Given the description of an element on the screen output the (x, y) to click on. 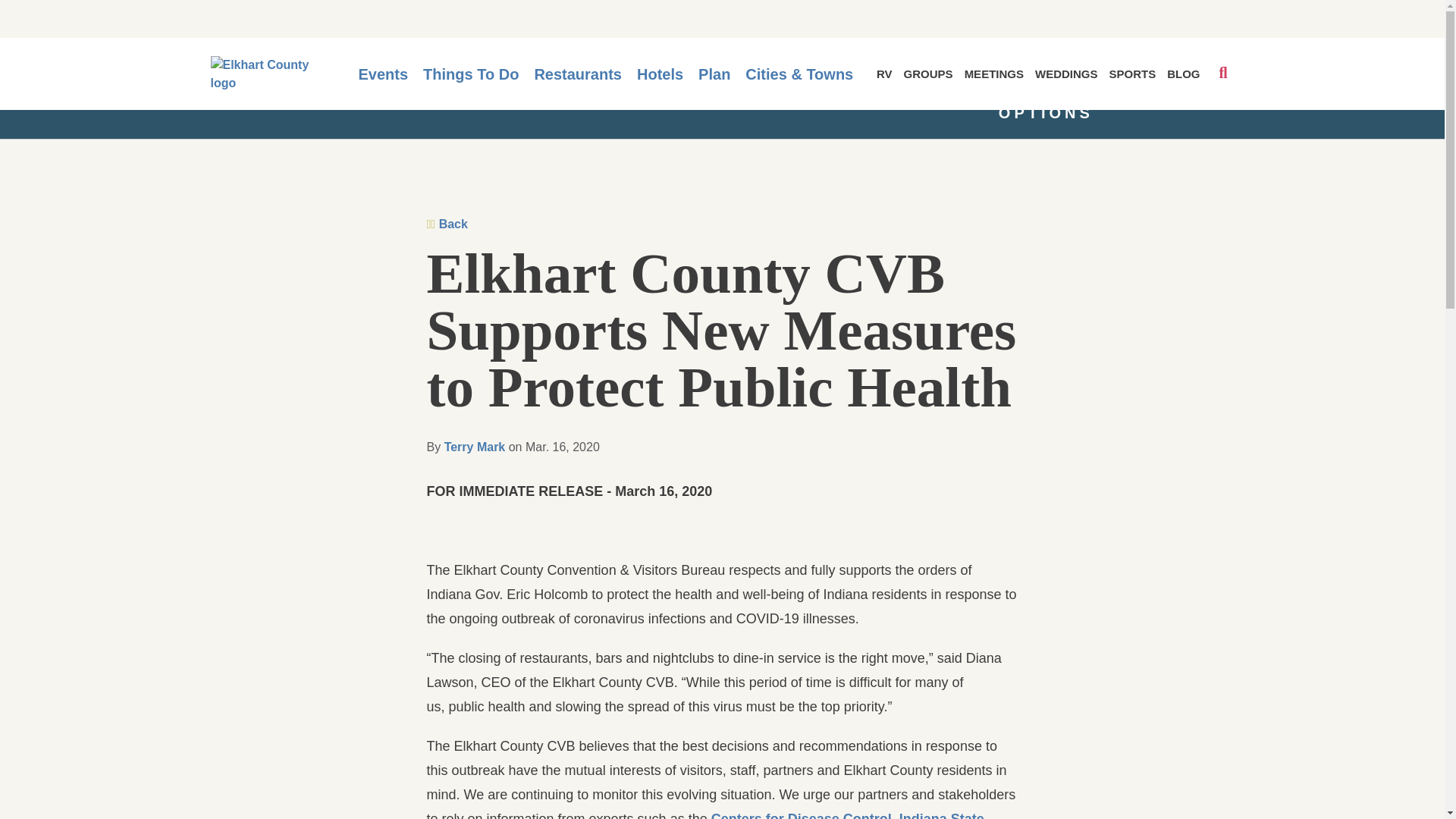
Events (382, 73)
Things To Do (470, 73)
Things To Do (470, 73)
Events (382, 73)
